Given the description of an element on the screen output the (x, y) to click on. 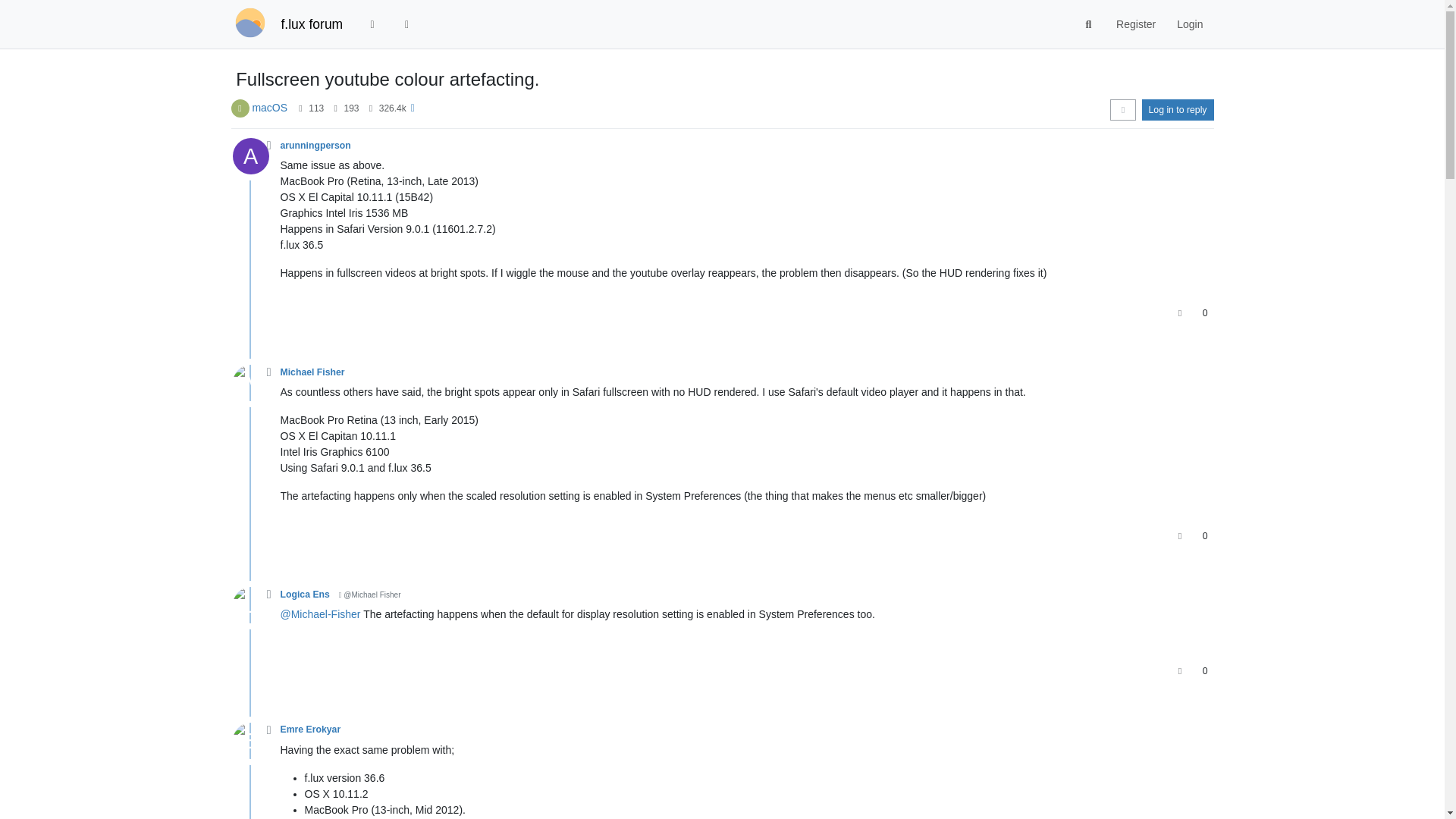
Search (1088, 24)
113 (315, 108)
Recent (372, 24)
f.lux forum (311, 24)
Views (370, 108)
326418 (392, 108)
Sort by (1122, 109)
Log in to reply (1177, 109)
Register (1135, 24)
A (255, 159)
Michael Fisher (313, 371)
Popular (407, 24)
Login (1189, 24)
Posts (335, 108)
Posters (300, 108)
